Given the description of an element on the screen output the (x, y) to click on. 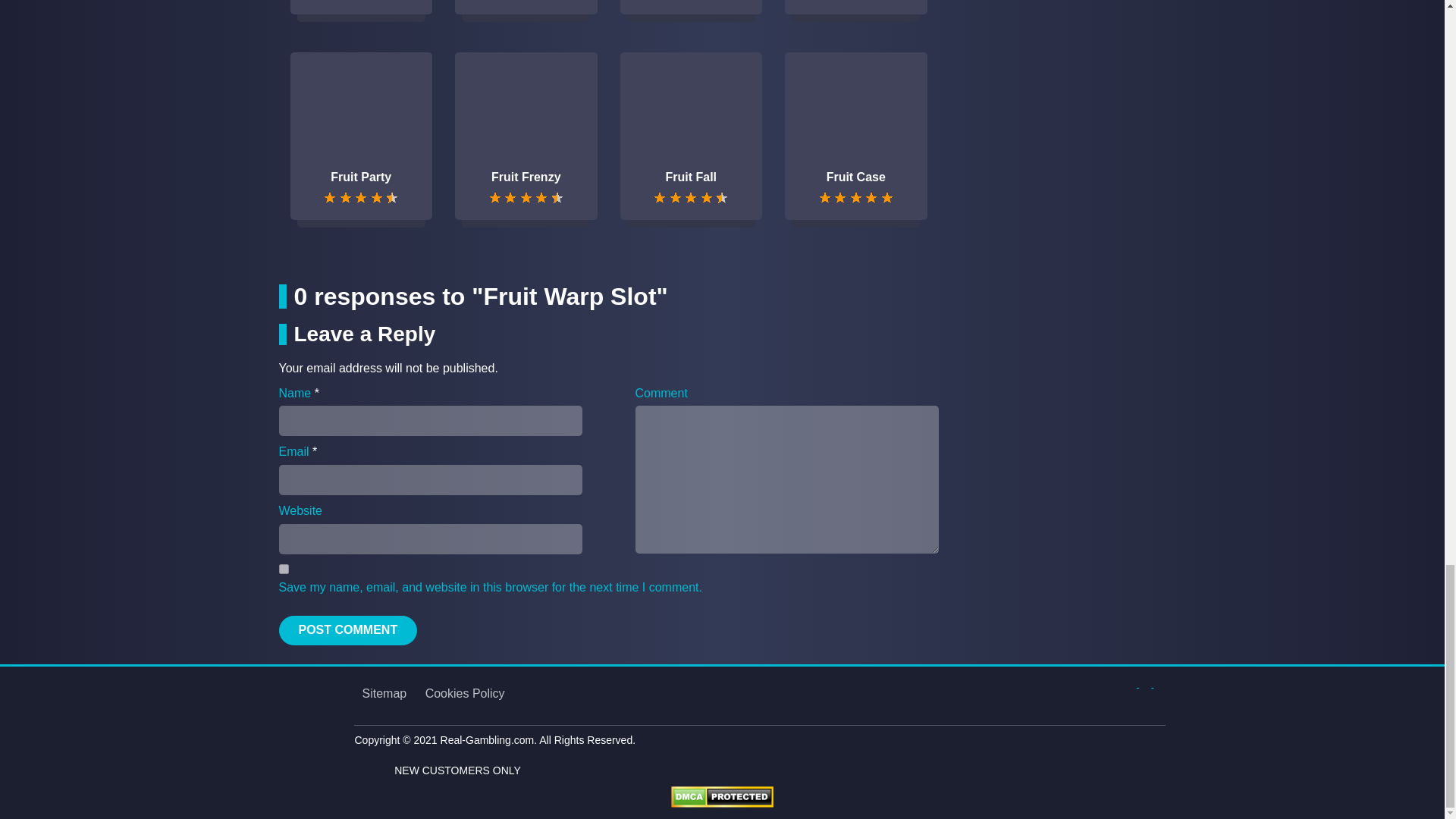
yes (283, 569)
Post Comment (348, 630)
DMCA.com Protection Status (722, 796)
